Given the description of an element on the screen output the (x, y) to click on. 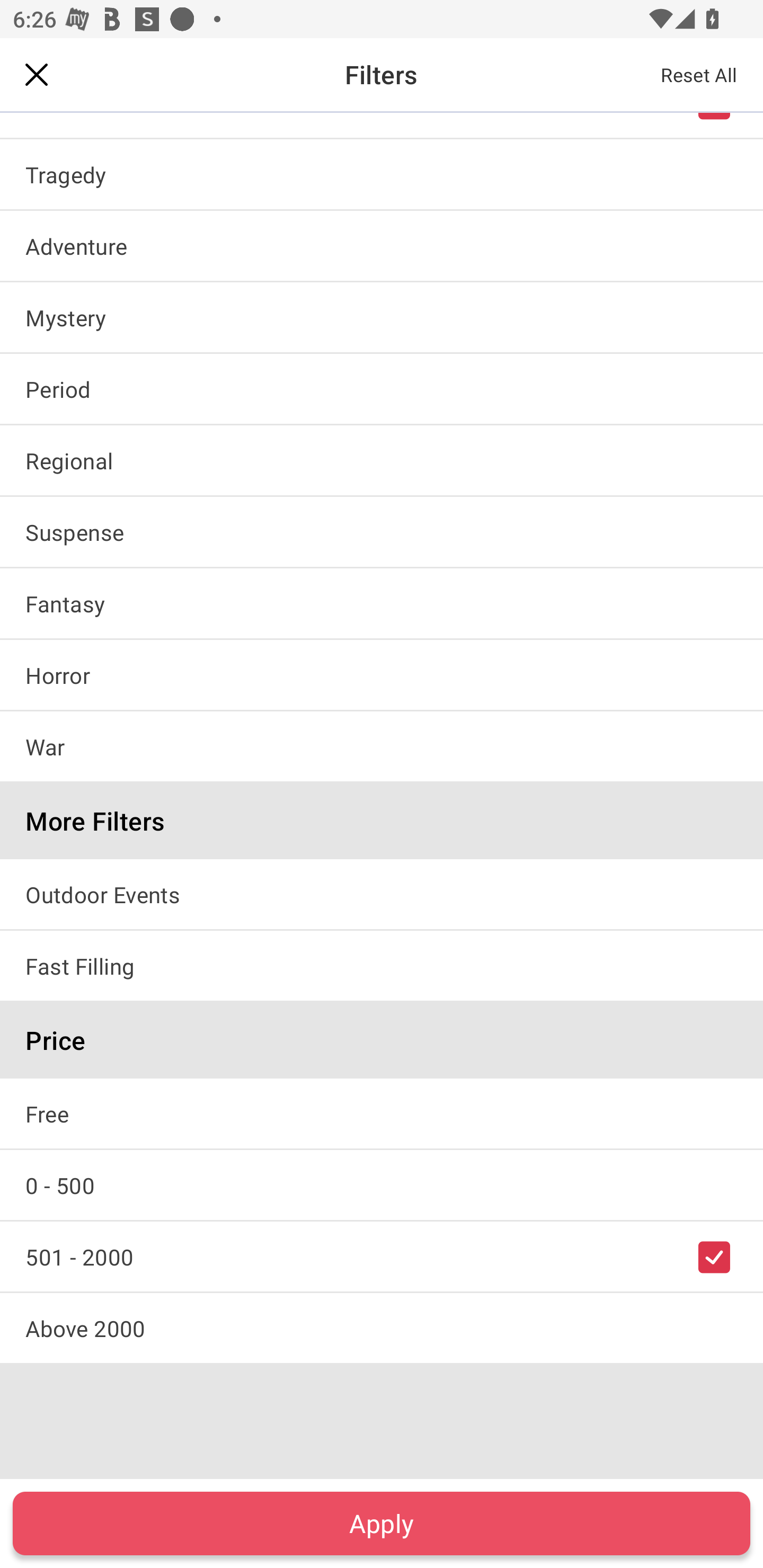
Close (36, 74)
Reset All (699, 74)
Tragedy (381, 173)
Adventure (381, 245)
Mystery (381, 317)
Period (381, 388)
Regional (381, 459)
Suspense (381, 531)
Fantasy (381, 602)
Horror (381, 674)
War (381, 745)
Outdoor Events (381, 894)
Fast Filling (381, 965)
Free (381, 1112)
0 - 500 (381, 1184)
501 - 2000  (381, 1256)
Above 2000 (381, 1327)
Apply (381, 1523)
